Given the description of an element on the screen output the (x, y) to click on. 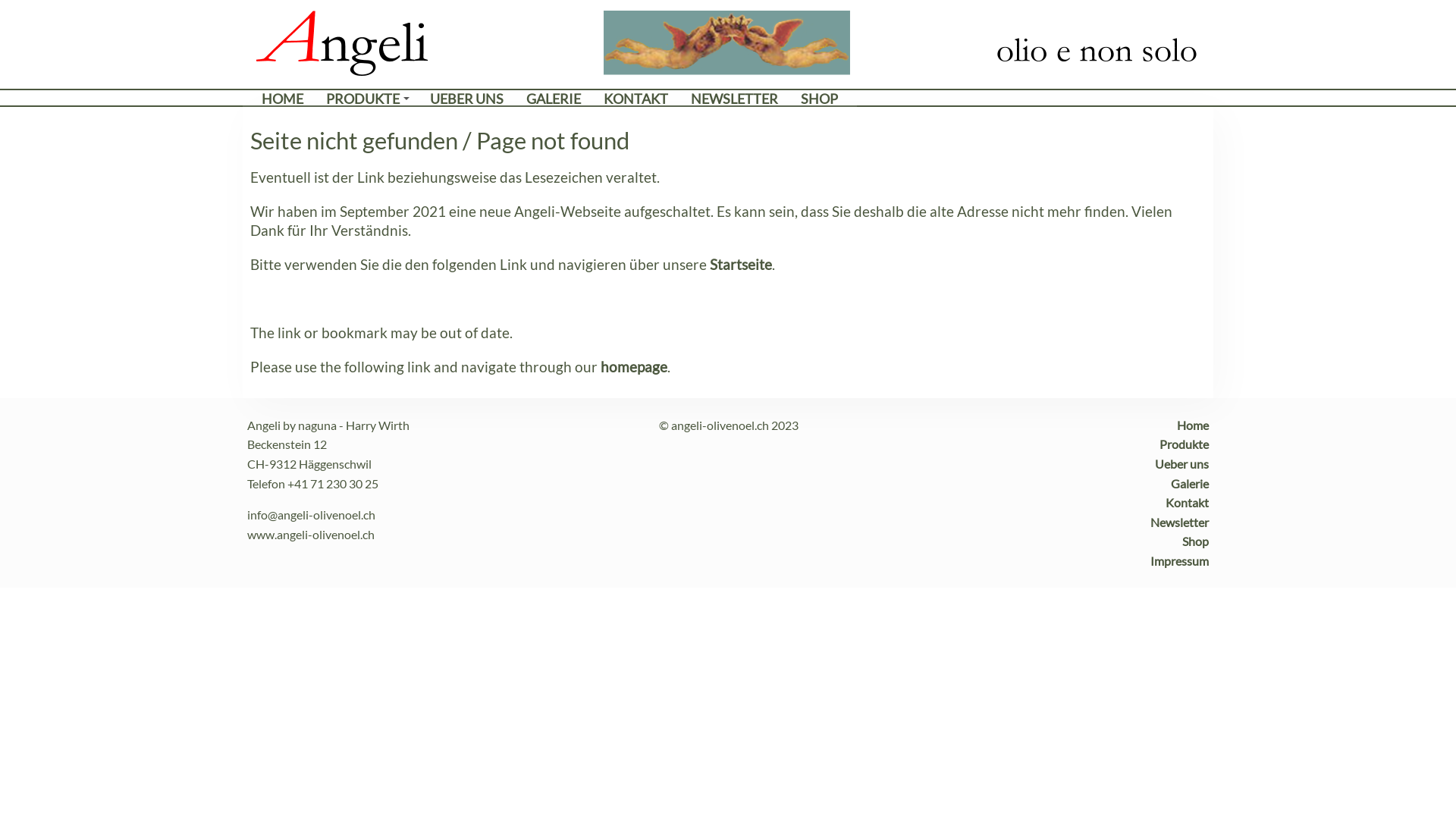
PRODUKTE Element type: text (366, 98)
Startseite Element type: text (740, 264)
HOME Element type: text (282, 98)
Impressum Element type: text (1179, 560)
Shop Element type: text (1195, 540)
GALERIE Element type: text (553, 98)
UEBER UNS Element type: text (466, 98)
KONTAKT Element type: text (635, 98)
homepage Element type: text (633, 366)
Home Element type: text (1192, 424)
Newsletter Element type: text (1179, 521)
SHOP Element type: text (819, 98)
Kontakt Element type: text (1186, 502)
Ueber uns Element type: text (1181, 463)
Produkte Element type: text (1183, 443)
NEWSLETTER Element type: text (734, 98)
Galerie Element type: text (1189, 483)
